Given the description of an element on the screen output the (x, y) to click on. 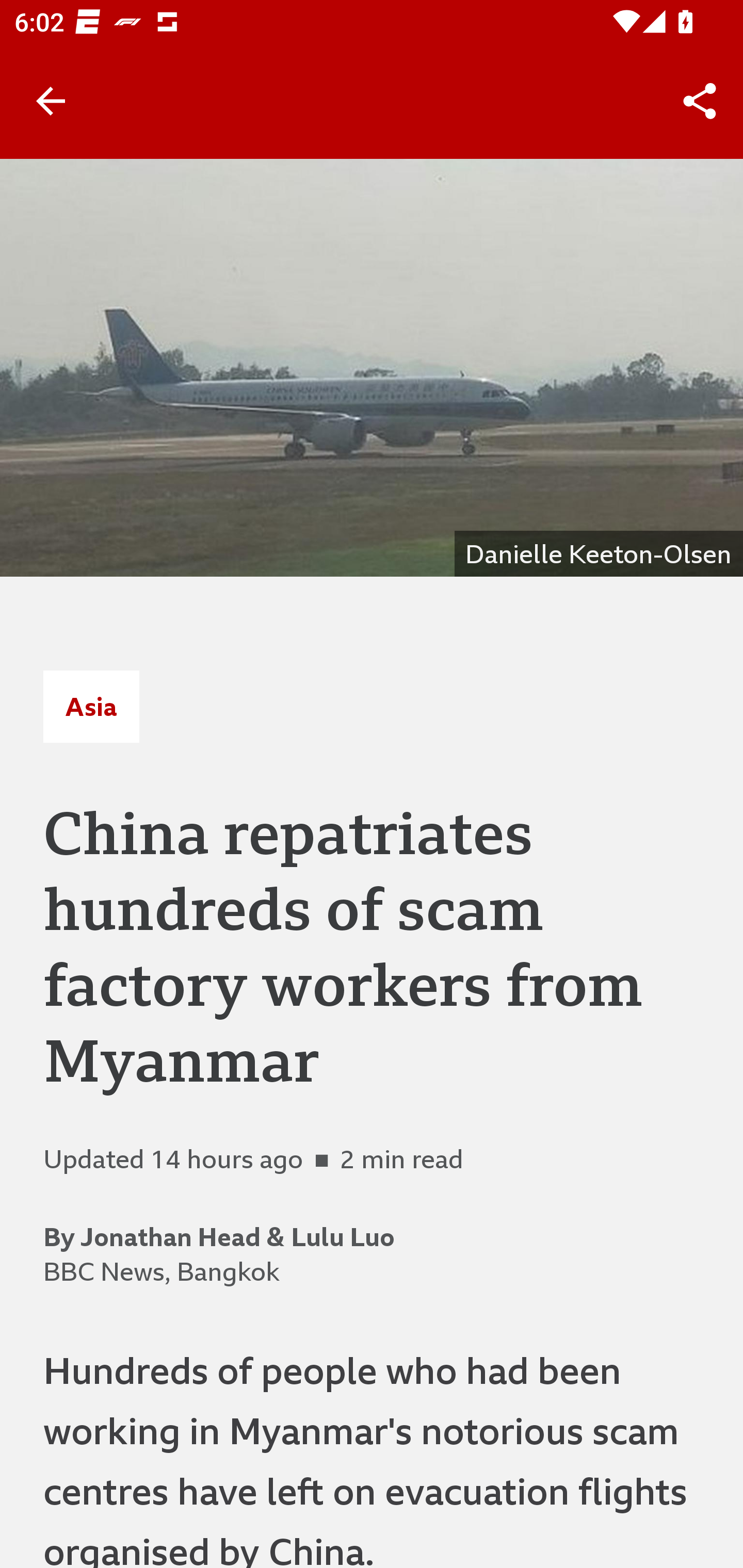
Back (50, 101)
Share (699, 101)
Asia (91, 706)
